Given the description of an element on the screen output the (x, y) to click on. 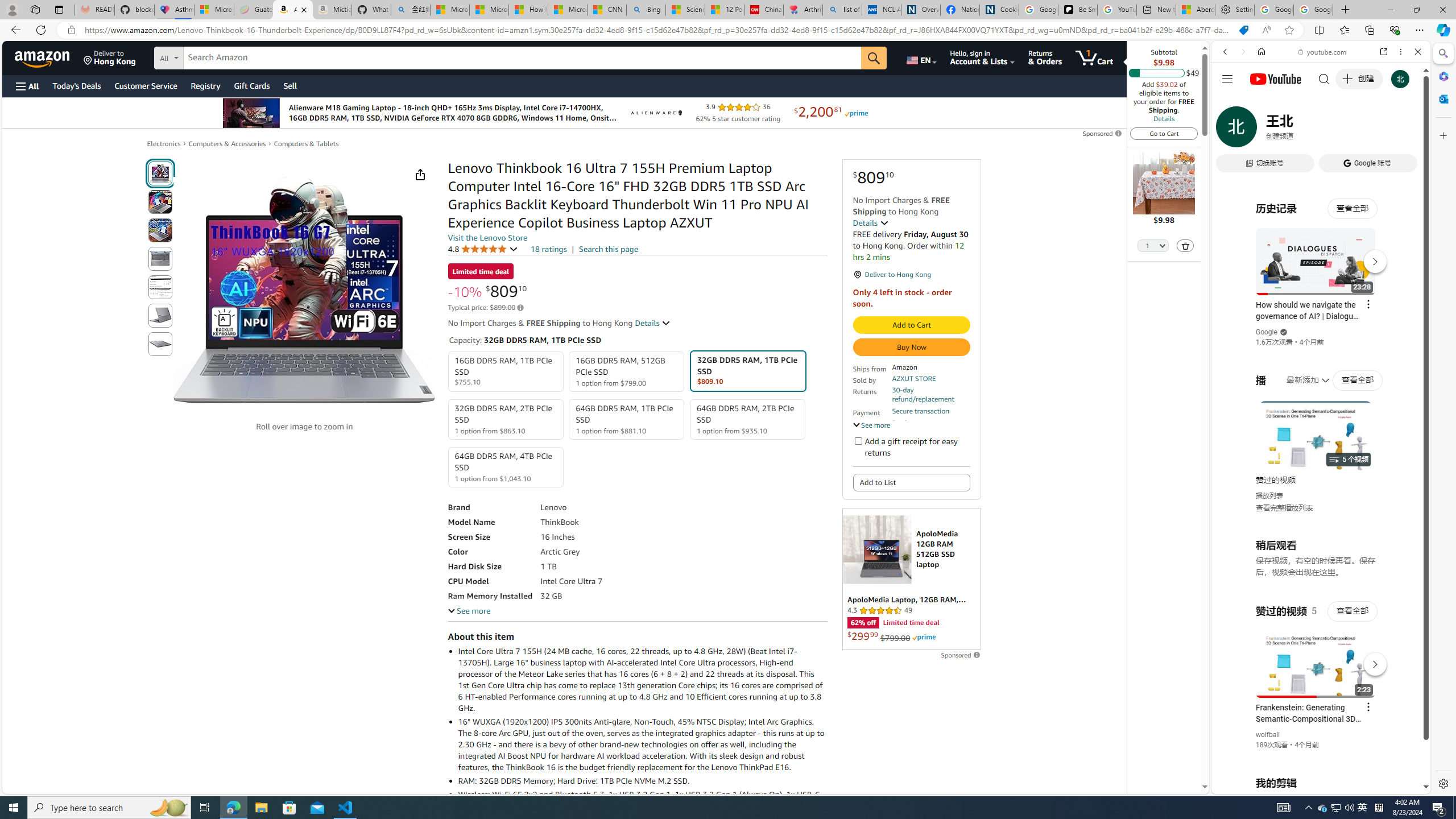
Class: dict_pnIcon rms_img (1312, 784)
New Tab (1346, 9)
Settings (1442, 783)
Browser essentials (1394, 29)
Search the web (1326, 78)
Go (873, 57)
Search Amazon (522, 57)
Returns & Orders (1045, 57)
CNN - MSN (606, 9)
Read aloud this page (Ctrl+Shift+U) (1266, 29)
list of asthma inhalers uk - Search (842, 9)
Search Filter, IMAGES (1262, 129)
